Given the description of an element on the screen output the (x, y) to click on. 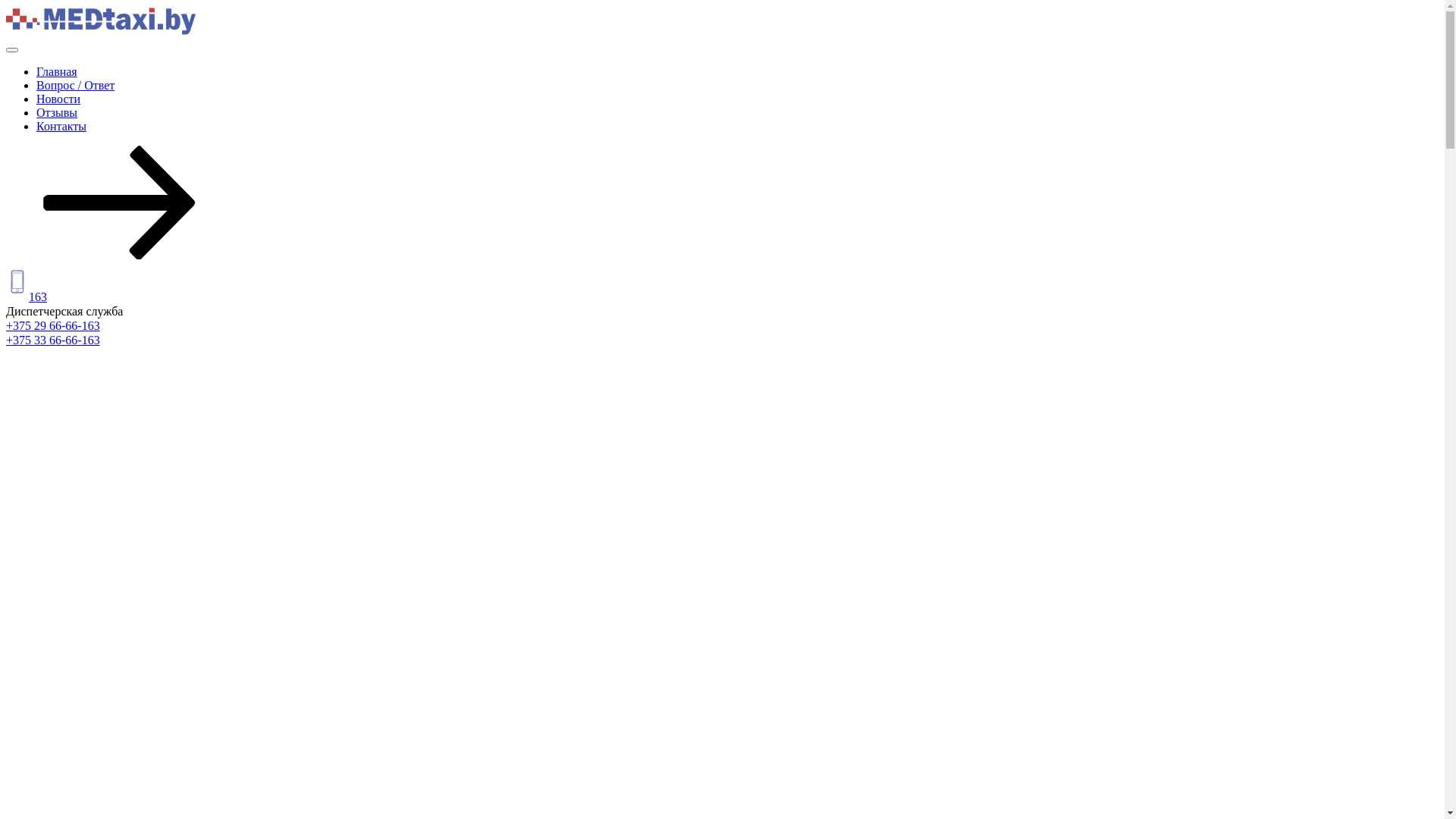
163 Element type: text (37, 296)
Scroll down to content Element type: text (119, 254)
+375 29 66-66-163 Element type: text (53, 325)
+375 33 66-66-163 Element type: text (53, 339)
